Given the description of an element on the screen output the (x, y) to click on. 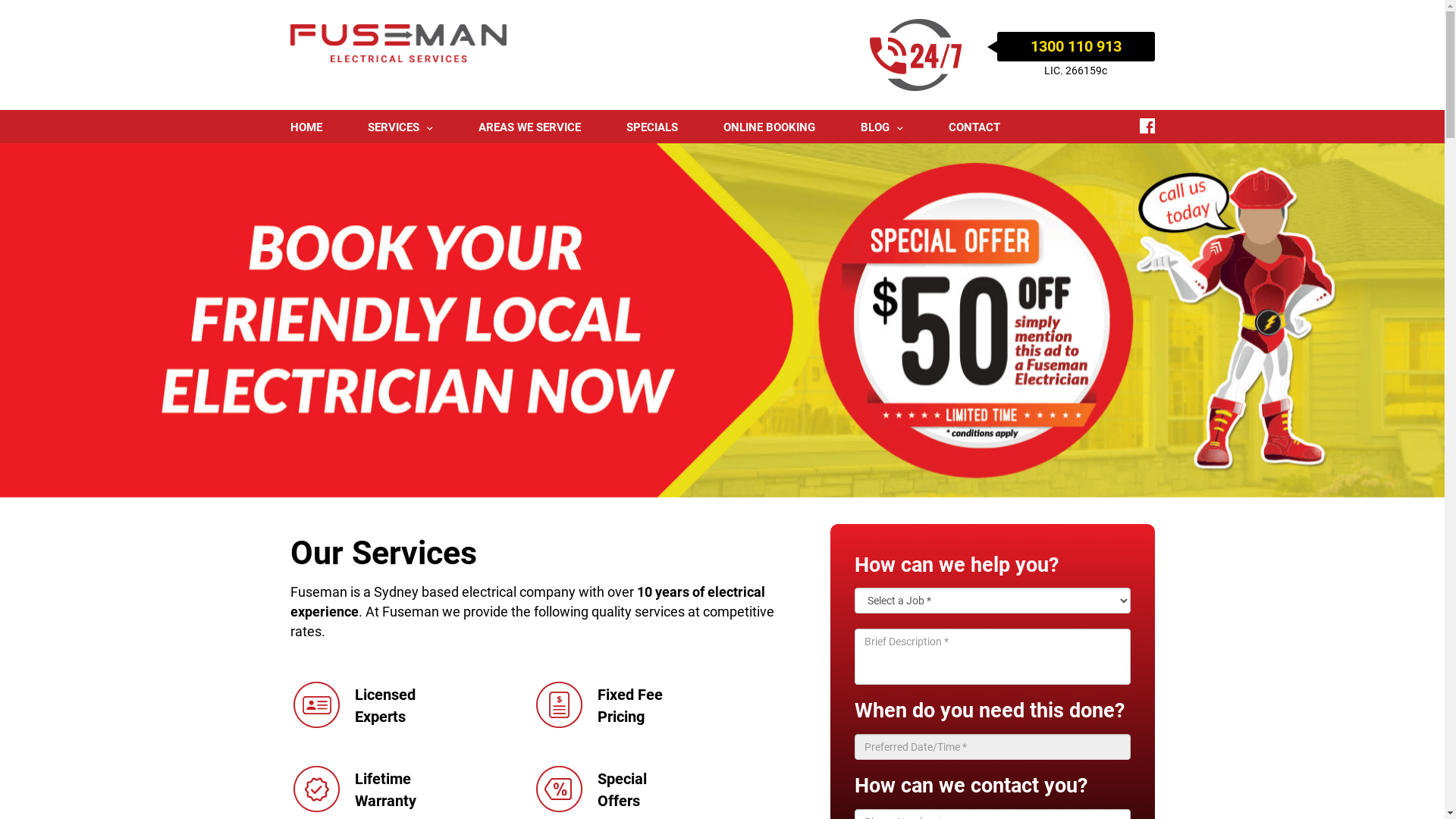
BLOG Element type: text (880, 127)
SPECIALS Element type: text (651, 127)
SERVICES Element type: text (399, 127)
ONLINE BOOKING Element type: text (769, 127)
AREAS WE SERVICE Element type: text (528, 127)
1300 110 913 Element type: text (1075, 46)
HOME Element type: text (305, 127)
CONTACT Element type: text (973, 127)
